Given the description of an element on the screen output the (x, y) to click on. 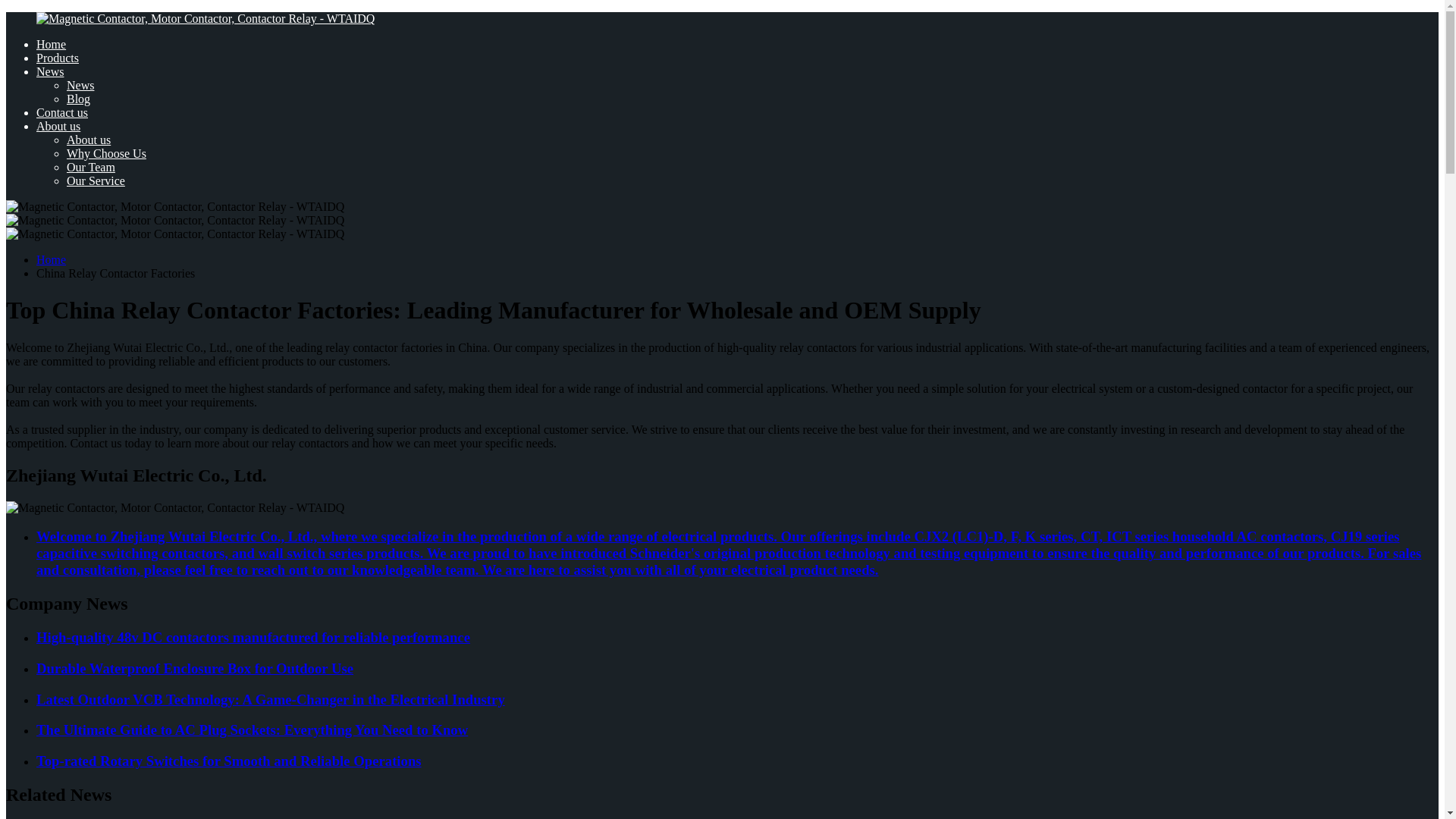
Home (50, 259)
News (50, 71)
Blog (78, 98)
Contact us (61, 112)
Our Team (90, 166)
Our Service (95, 180)
About us (58, 125)
About us (88, 139)
Why Choose Us (106, 153)
Home (50, 43)
